Given the description of an element on the screen output the (x, y) to click on. 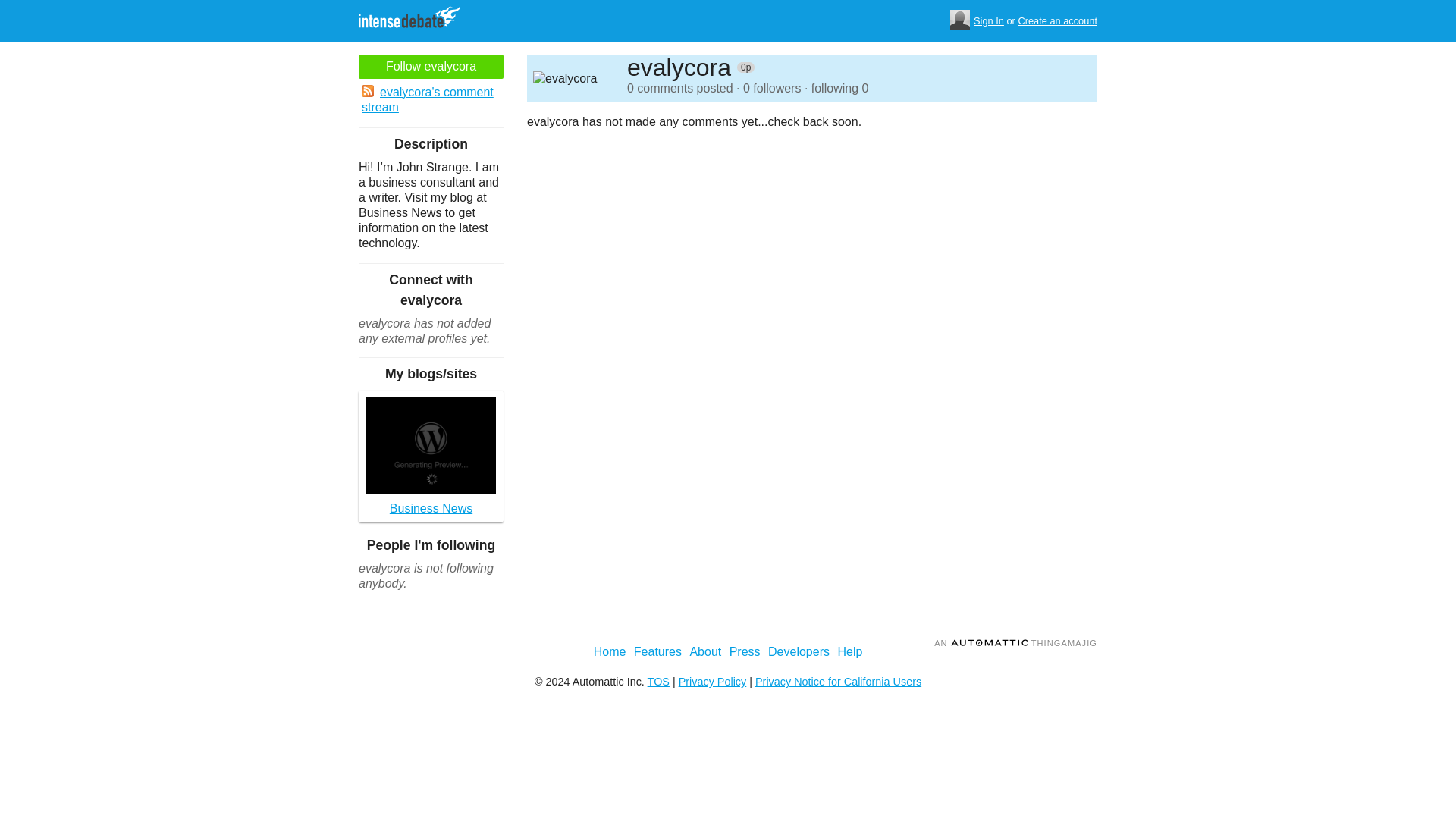
TOS (658, 681)
Help (849, 651)
IntenseDebate Comment System (414, 18)
Business News (430, 456)
evalycora's comment stream (430, 99)
Developers (798, 651)
About (704, 651)
Features (657, 651)
Create an account (1057, 21)
Press (744, 651)
Follow evalycora (430, 66)
AN THINGAMAJIG (1015, 642)
Home (610, 651)
Privacy Notice for California Users (838, 681)
Privacy Policy (712, 681)
